Given the description of an element on the screen output the (x, y) to click on. 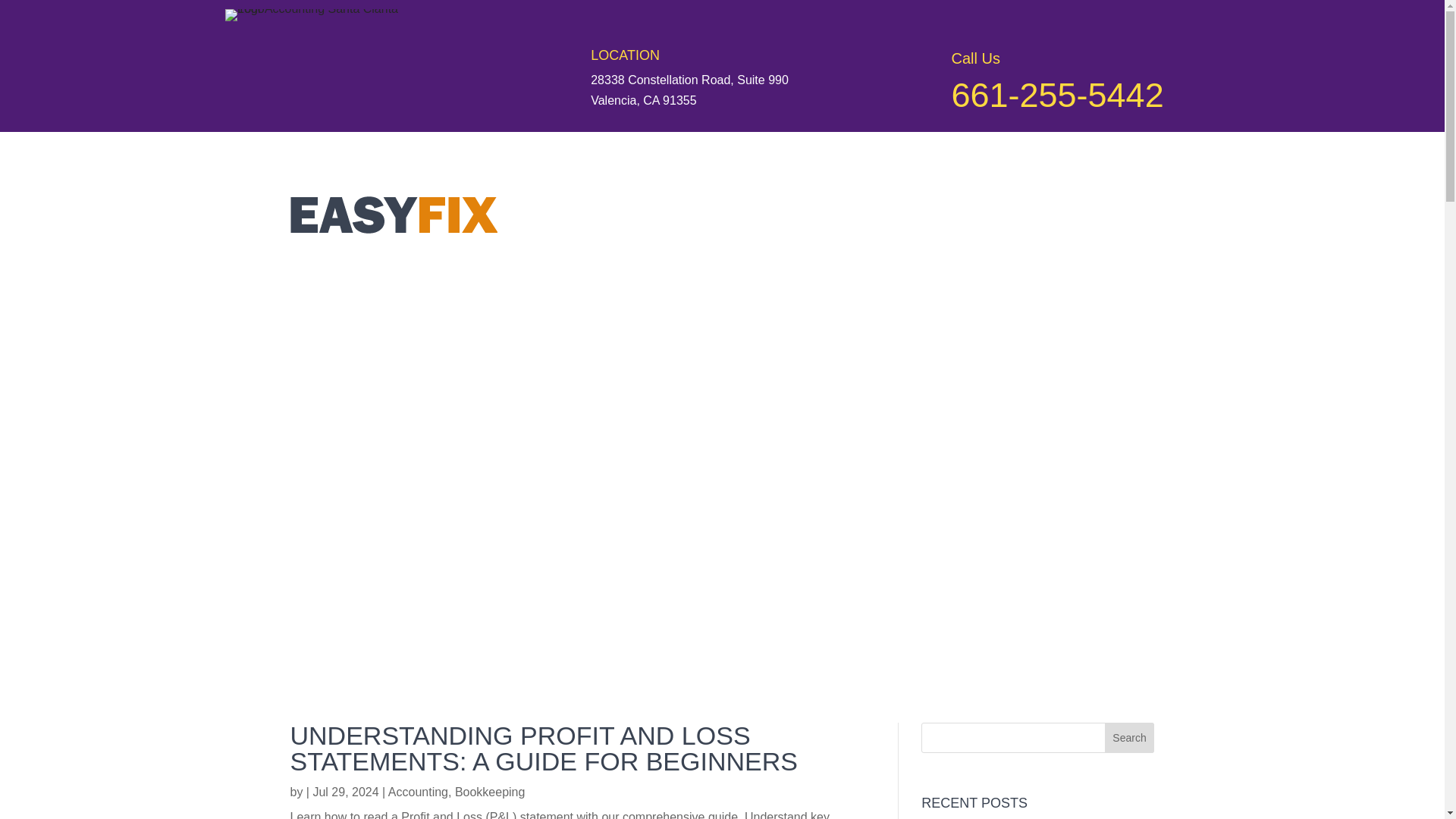
Accounting (418, 791)
Bookkeeping (489, 791)
Search (1129, 737)
youraccounting-logo-3 (325, 15)
Resources (754, 641)
Services (677, 641)
Contact Us (873, 641)
About Us (611, 641)
